Given the description of an element on the screen output the (x, y) to click on. 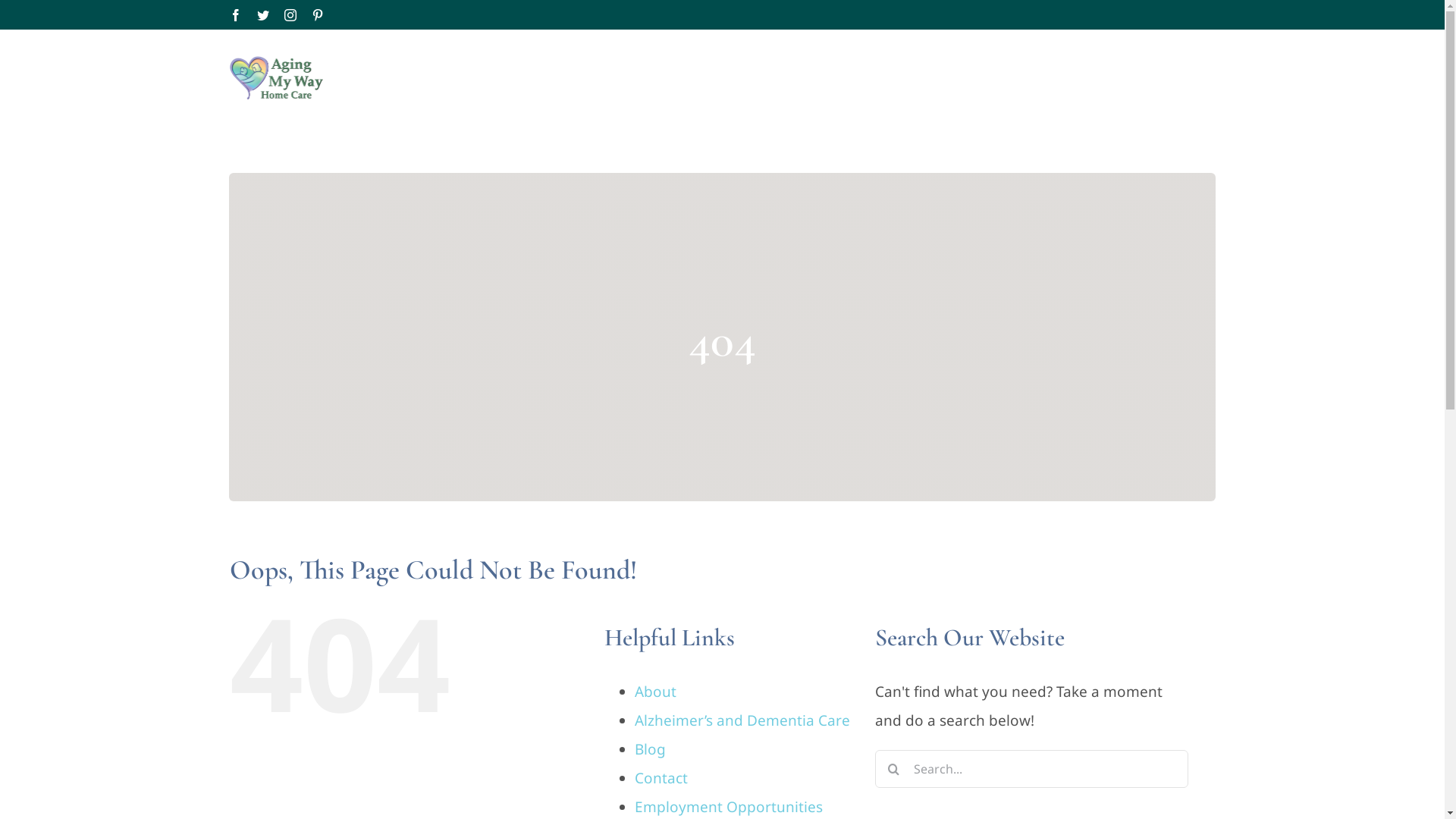
Contact Element type: text (660, 777)
Blog Element type: text (649, 749)
Instagram Element type: text (289, 15)
Twitter Element type: text (262, 15)
Facebook Element type: text (235, 15)
Pinterest Element type: text (316, 15)
Employment Opportunities Element type: text (728, 806)
About Element type: text (655, 691)
